Given the description of an element on the screen output the (x, y) to click on. 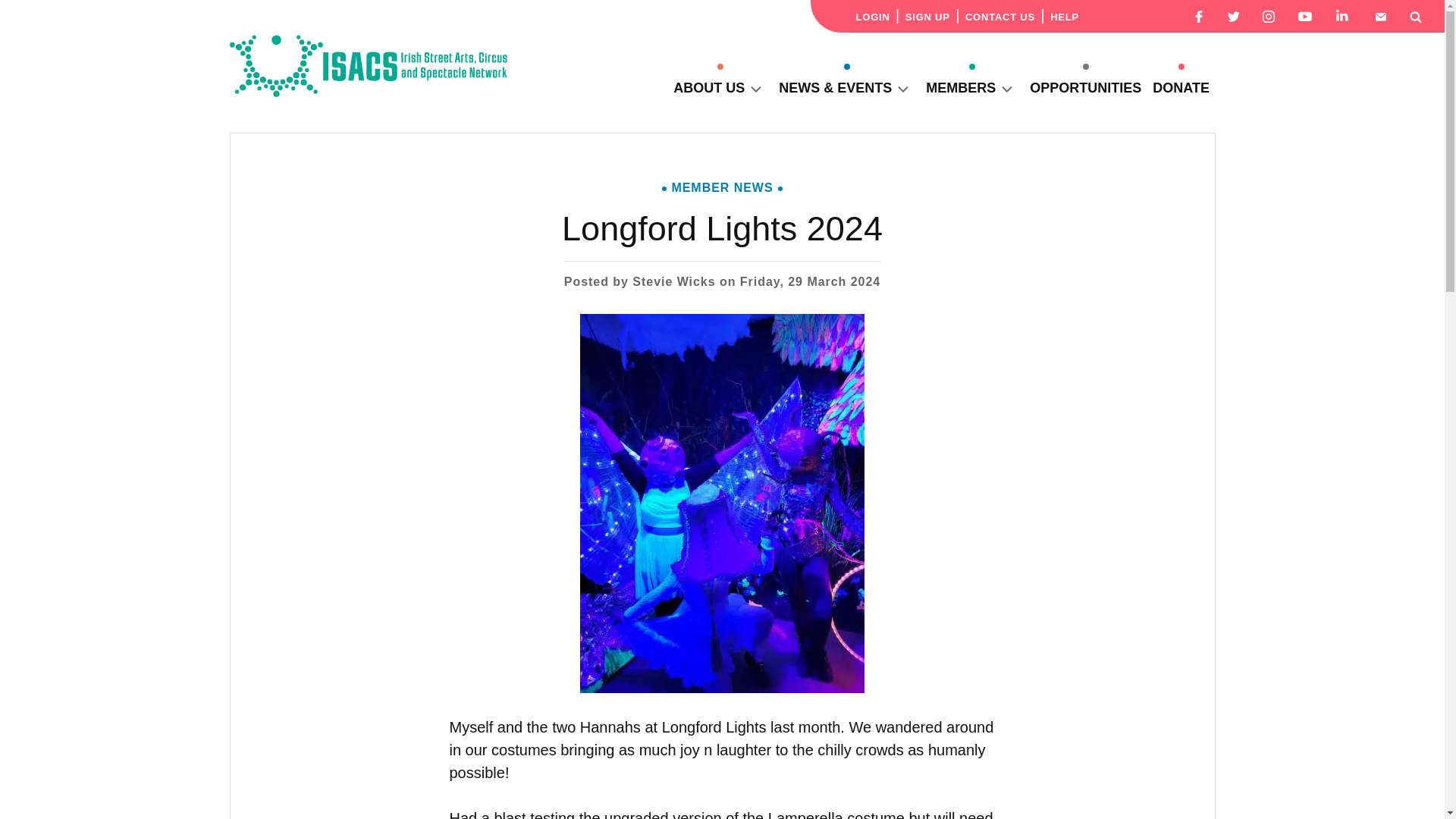
Open menu (1006, 87)
DONATE (1181, 87)
Open menu (902, 87)
SIGN UP (927, 17)
HELP (1063, 17)
LOGIN (872, 17)
Open menu (755, 87)
CONTACT US (1000, 17)
OPPORTUNITIES (1085, 87)
